Given the description of an element on the screen output the (x, y) to click on. 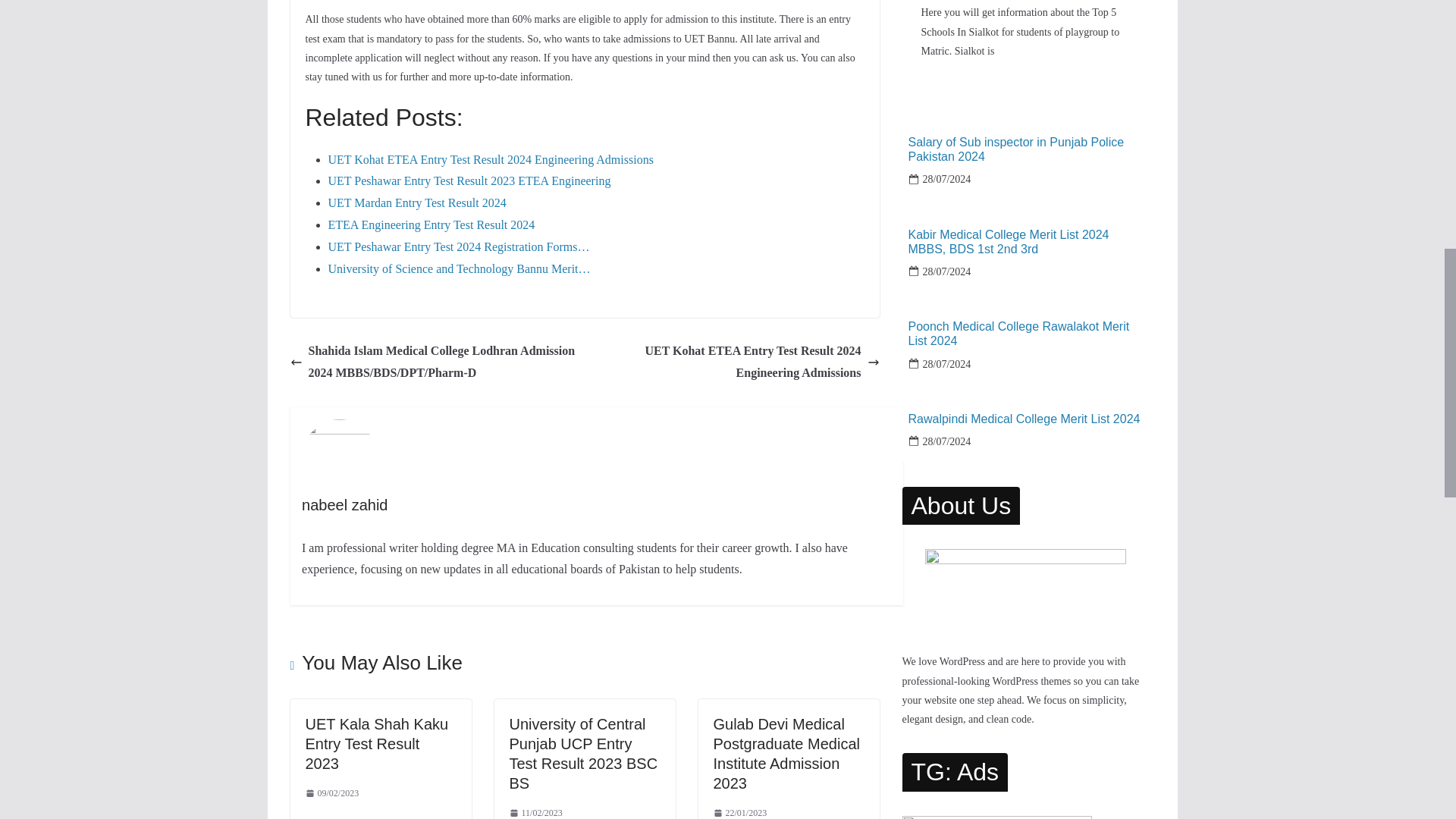
UET Kala Shah Kaku Entry Test Result 2023 (376, 743)
2:45 pm (535, 812)
UET Kohat ETEA Entry Test Result 2024 Engineering Admissions (735, 362)
UET Peshawar Entry Test Result 2023 ETEA Engineering (468, 180)
UET Mardan Entry Test Result 2024 (416, 202)
11:49 am (331, 793)
UET Kala Shah Kaku Entry Test Result 2023 (376, 743)
ETEA Engineering Entry Test Result 2024 (430, 224)
7:11 am (740, 812)
UET Kohat ETEA Entry Test Result 2024 Engineering Admissions (489, 159)
